Given the description of an element on the screen output the (x, y) to click on. 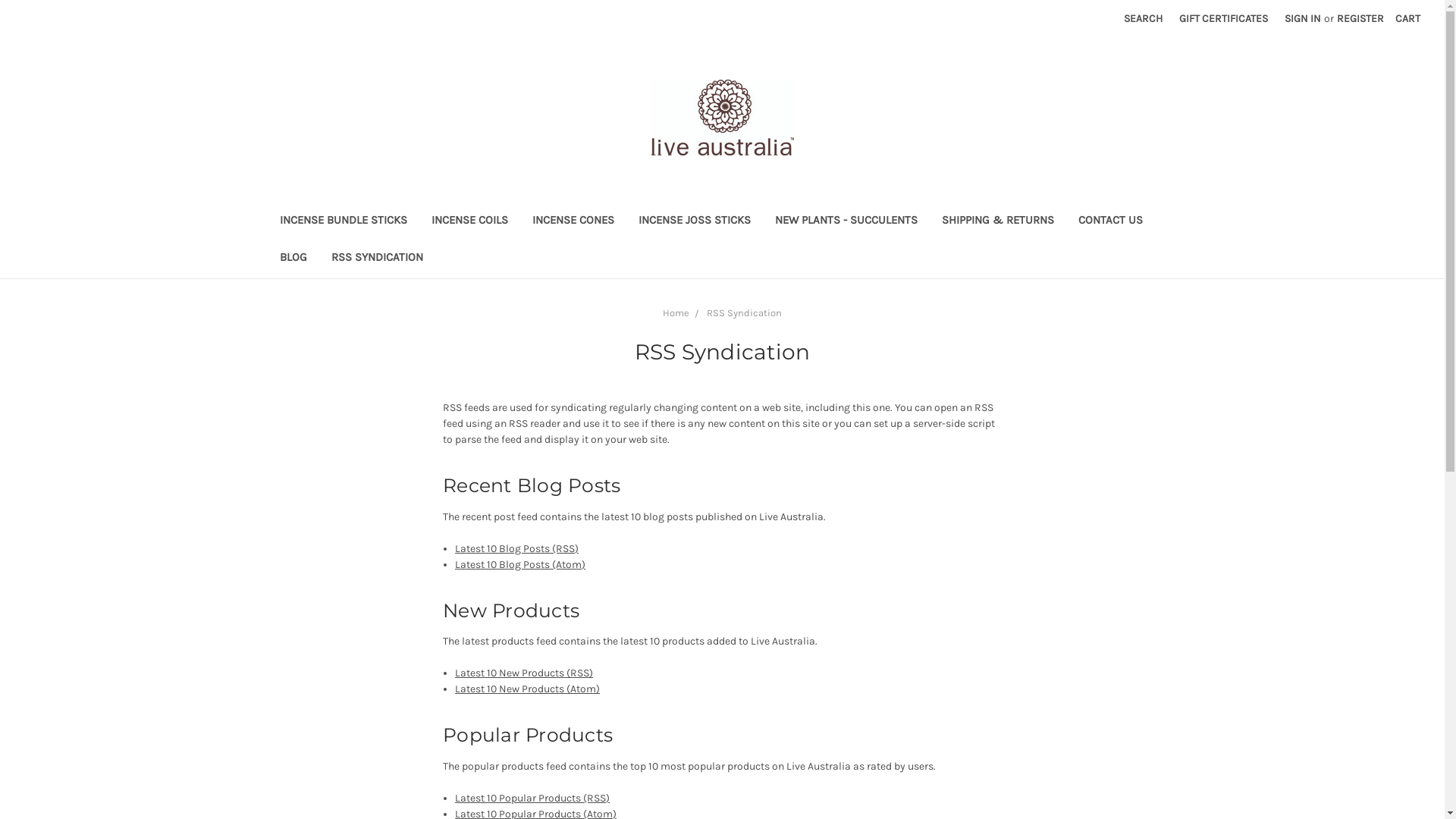
Latest 10 Popular Products (RSS) Element type: text (532, 797)
Latest 10 Blog Posts (RSS) Element type: text (516, 548)
RSS Syndication Element type: text (743, 312)
Latest 10 New Products (Atom) Element type: text (527, 688)
NEW PLANTS - SUCCULENTS Element type: text (845, 221)
CART Element type: text (1407, 18)
Latest 10 Blog Posts (Atom) Element type: text (520, 564)
REGISTER Element type: text (1360, 18)
GIFT CERTIFICATES Element type: text (1223, 18)
INCENSE COILS Element type: text (468, 221)
Latest 10 New Products (RSS) Element type: text (524, 672)
CONTACT US Element type: text (1110, 221)
SHIPPING & RETURNS Element type: text (997, 221)
BLOG Element type: text (292, 258)
INCENSE CONES Element type: text (573, 221)
Live Australia Element type: hover (721, 117)
SIGN IN Element type: text (1302, 18)
RSS SYNDICATION Element type: text (376, 258)
SEARCH Element type: text (1142, 18)
Home Element type: text (675, 312)
INCENSE JOSS STICKS Element type: text (694, 221)
INCENSE BUNDLE STICKS Element type: text (342, 221)
